Given the description of an element on the screen output the (x, y) to click on. 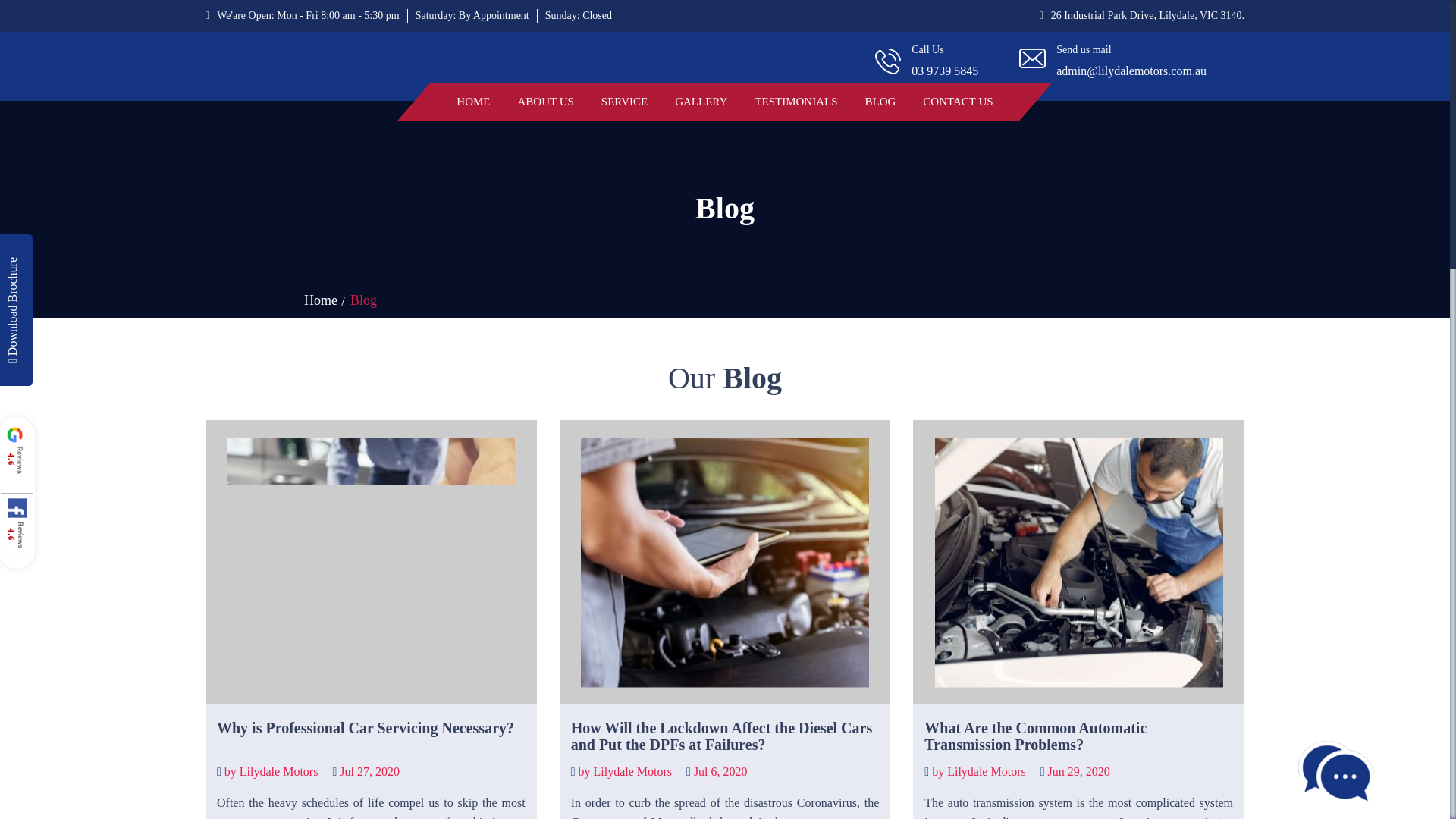
4.6 (34, 434)
SERVICE (624, 101)
Testimonials (795, 101)
GALLERY (700, 101)
Contact Us (957, 101)
Home (320, 300)
About Us (545, 101)
Gallery (700, 101)
CONTACT US (957, 101)
